Given the description of an element on the screen output the (x, y) to click on. 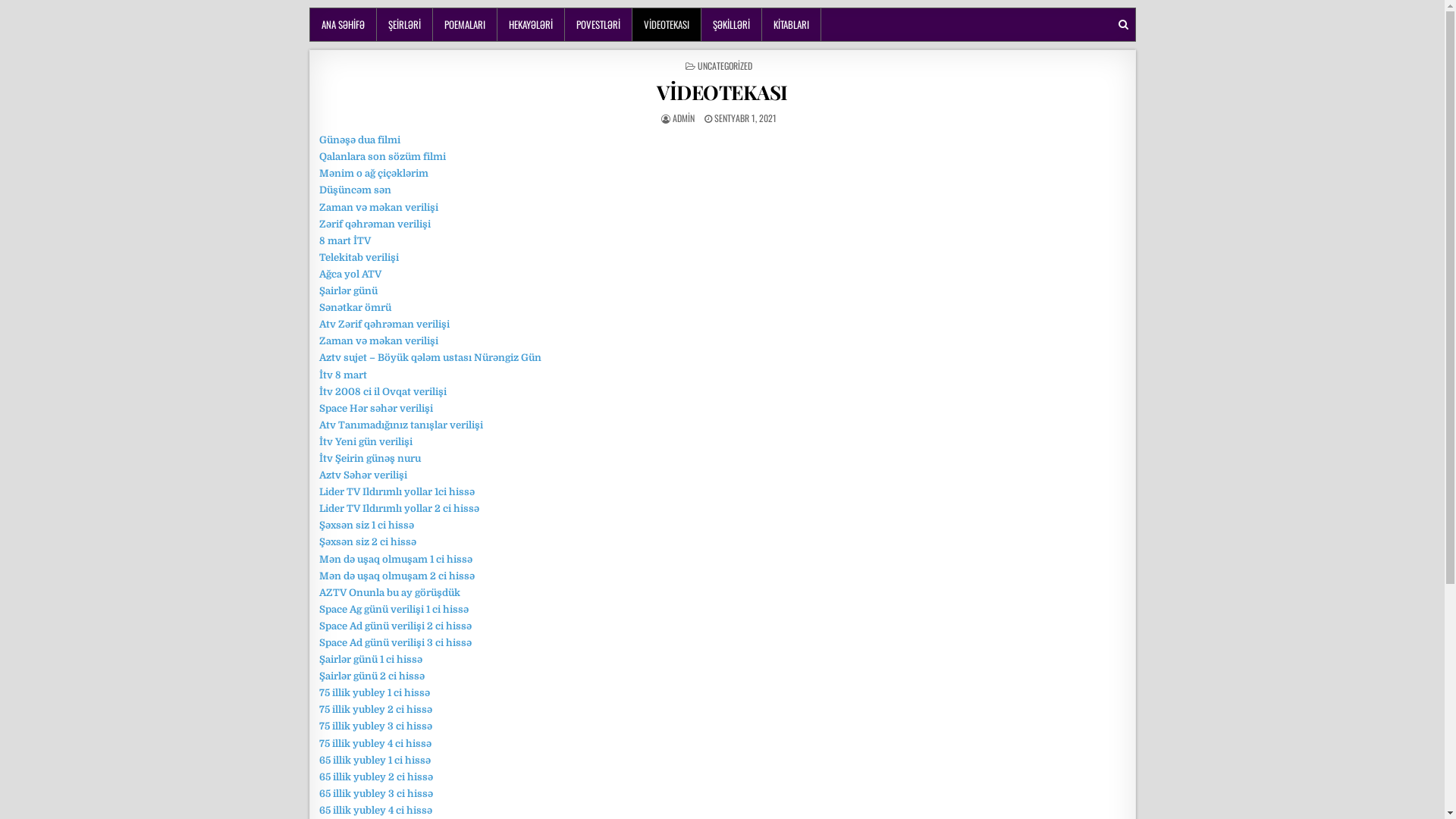
Axtar Element type: hover (1122, 24)
POEMALARI Element type: text (464, 24)
UNCATEGORIZED Element type: text (724, 65)
ADMIN Element type: text (682, 117)
